Given the description of an element on the screen output the (x, y) to click on. 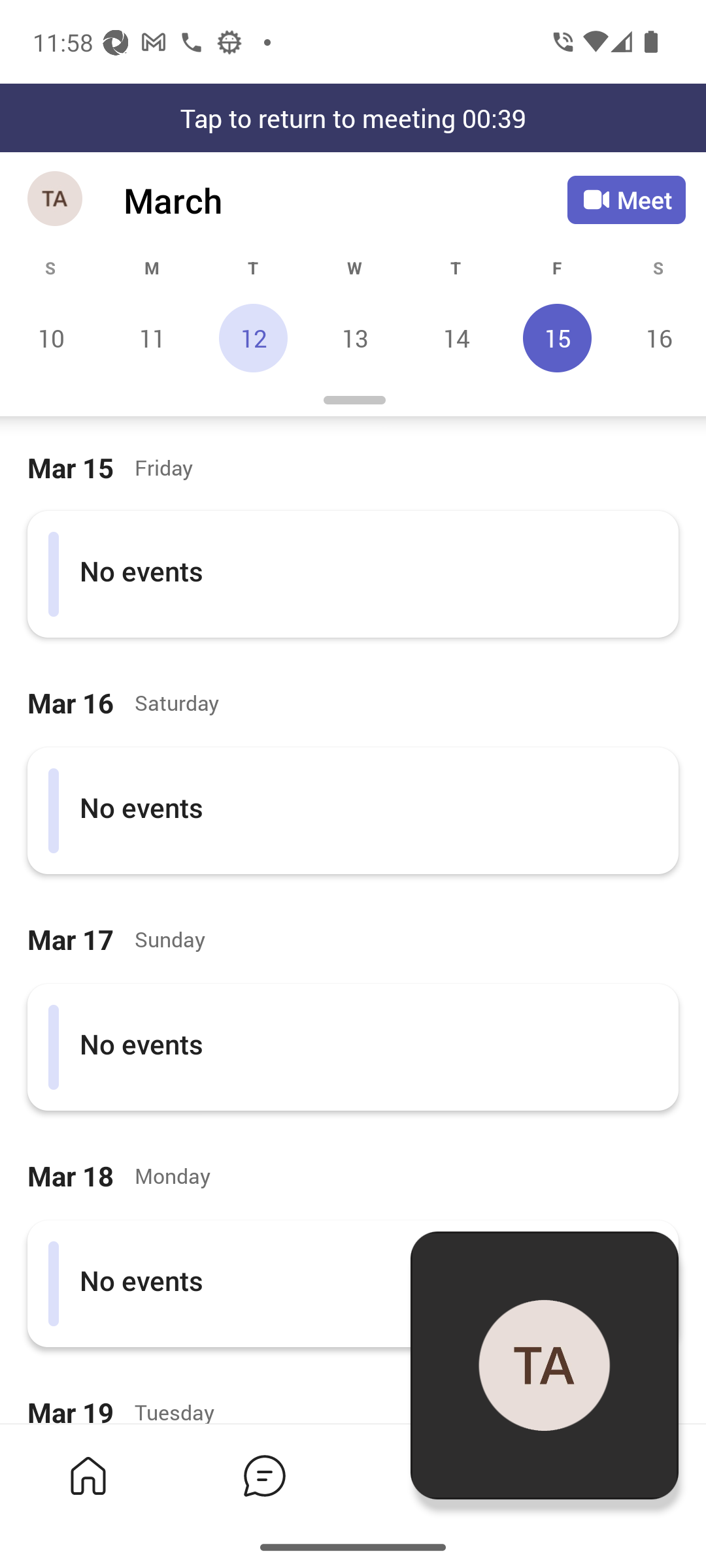
Tap to return to meeting 00:39 (353, 117)
Navigation (56, 199)
Meet Meet now or join with an ID (626, 199)
March March Calendar Agenda View (345, 199)
Sunday, March 10 10 (50, 337)
Monday, March 11 11 (151, 337)
Tuesday, March 12, Today 12 (253, 337)
Wednesday, March 13 13 (354, 337)
Thursday, March 14 14 (455, 337)
Friday, March 15, Selected 15 (556, 337)
Saturday, March 16 16 (656, 337)
Home tab,1 of 4, not selected (88, 1475)
Chat tab,2 of 4, not selected (264, 1475)
